Given the description of an element on the screen output the (x, y) to click on. 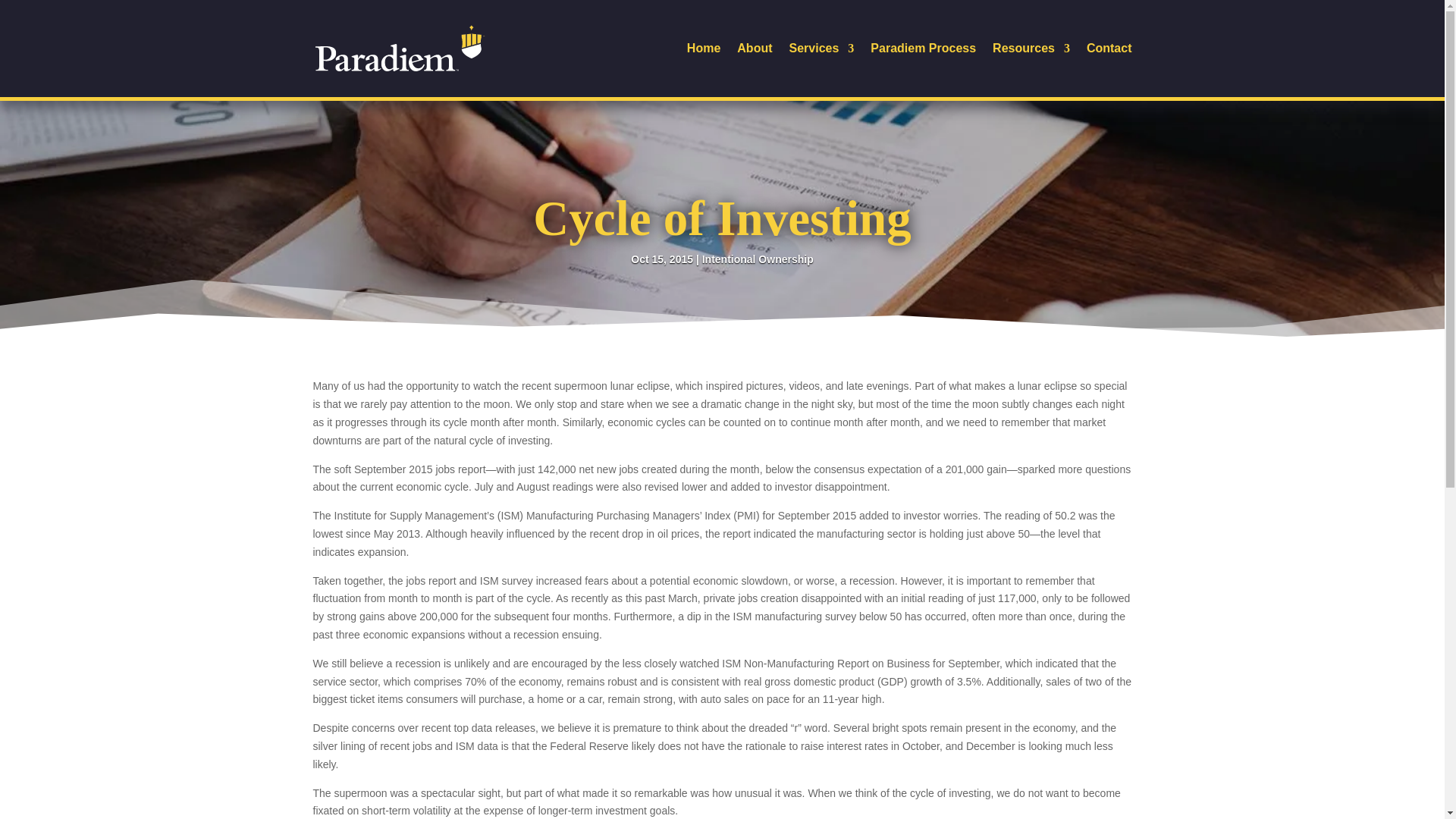
Intentional Ownership (757, 259)
Resources (1031, 70)
Paradiem Process (922, 70)
Services (821, 70)
